Given the description of an element on the screen output the (x, y) to click on. 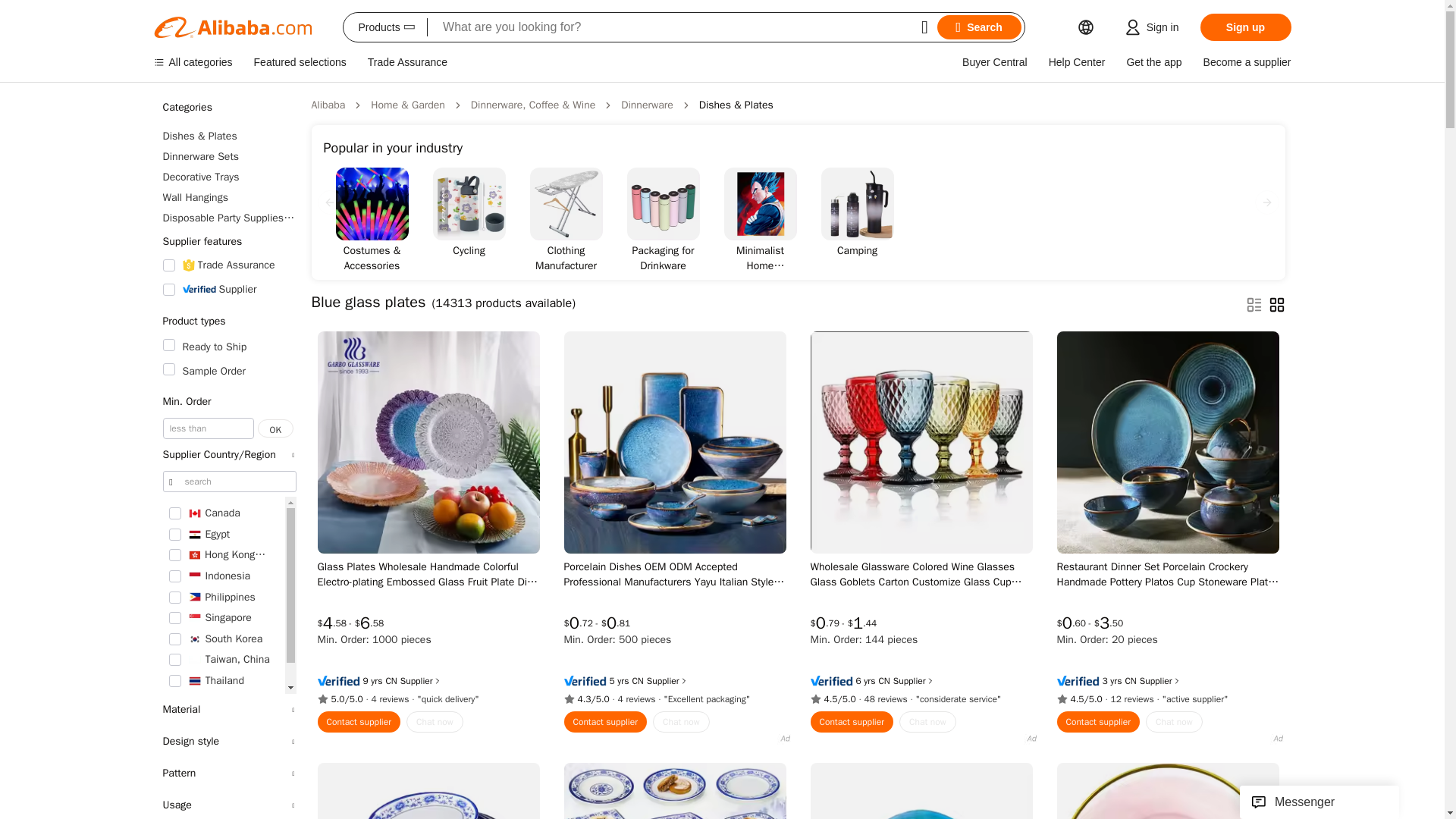
Dinnerware Sets (228, 156)
Categories (228, 107)
Decorative Trays (228, 176)
